Given the description of an element on the screen output the (x, y) to click on. 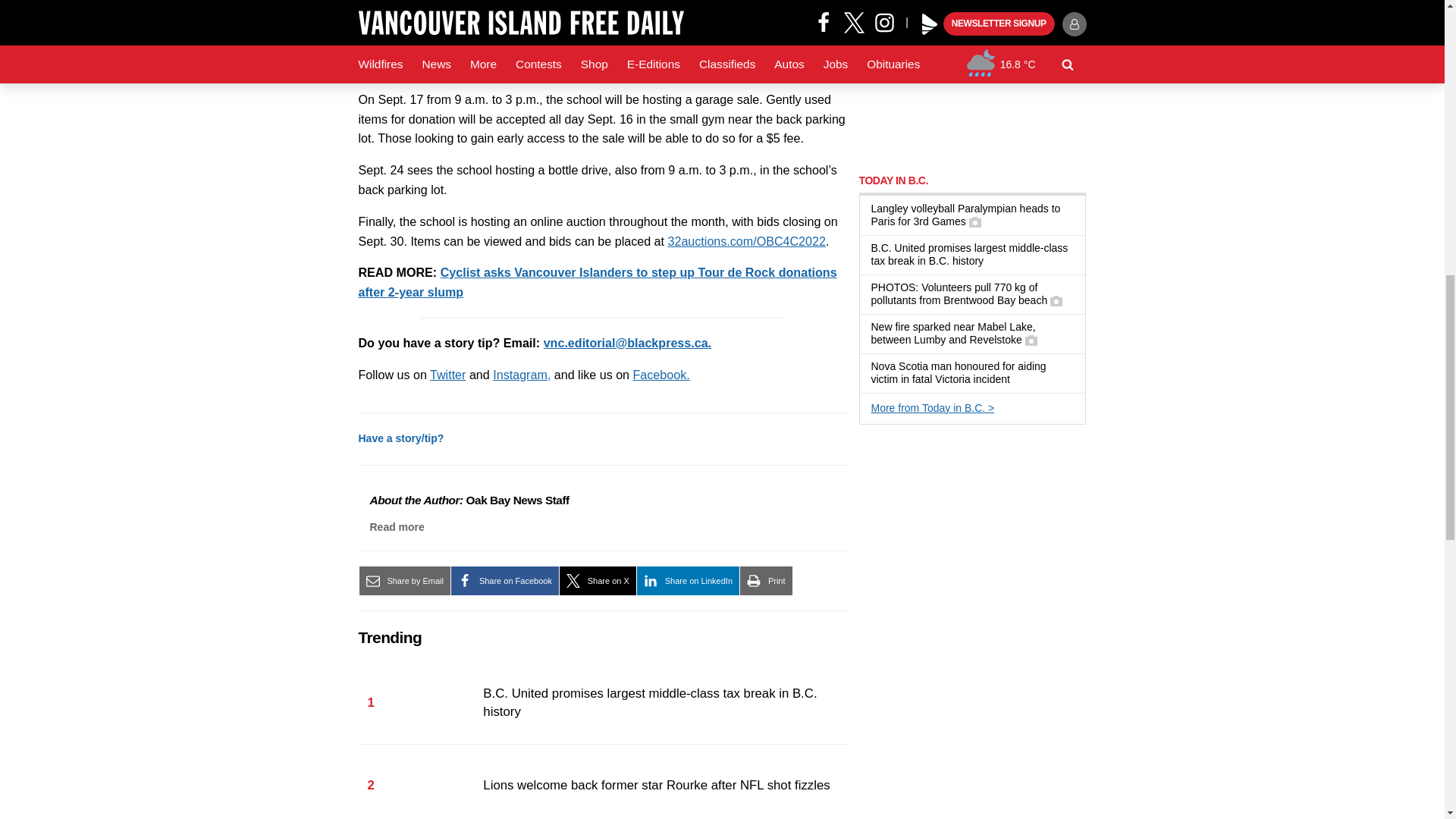
Has a gallery (975, 222)
Has a gallery (1030, 340)
Has a gallery (1055, 300)
